Given the description of an element on the screen output the (x, y) to click on. 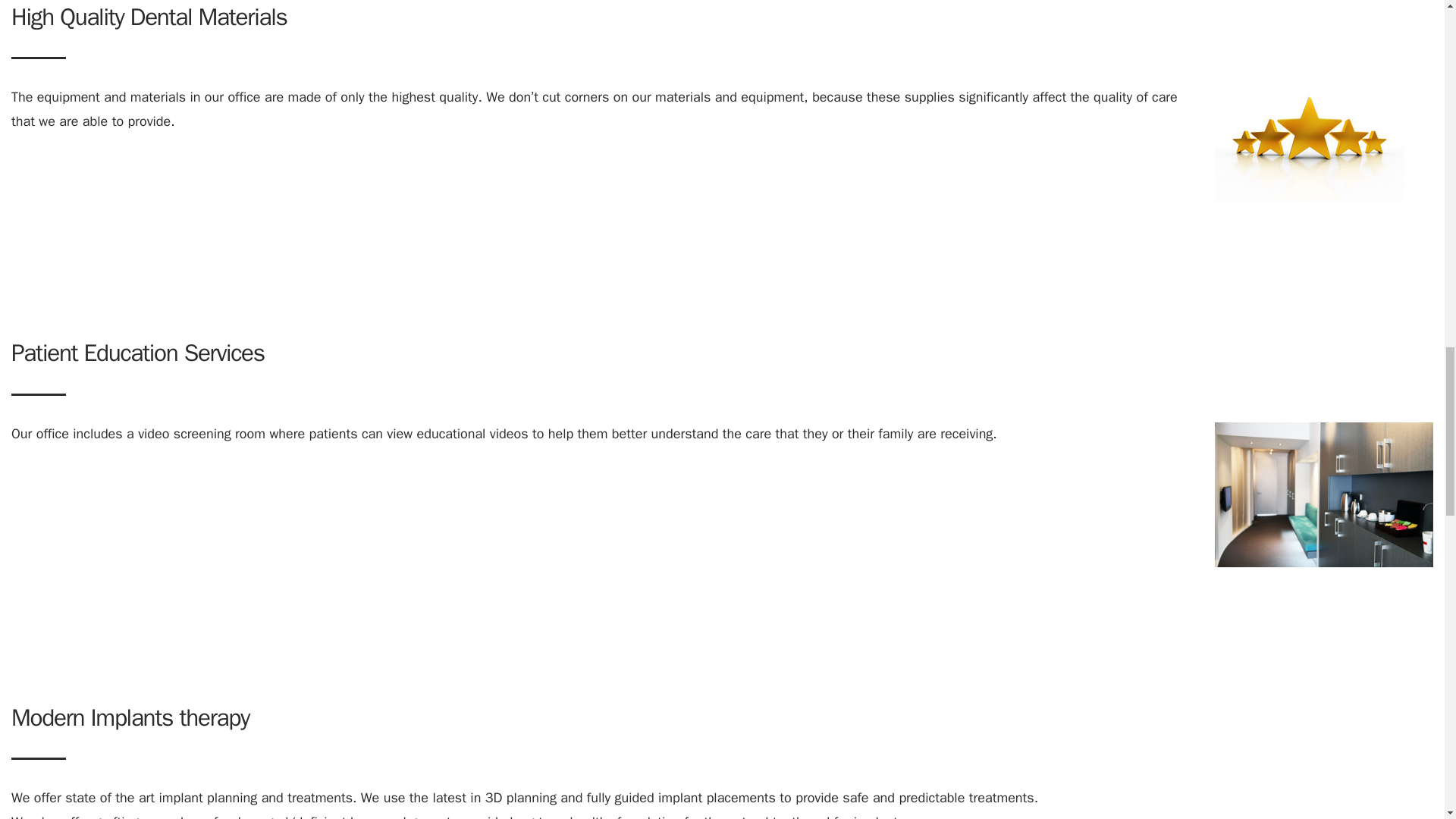
High quality dental products (1309, 143)
Video screening room (1323, 494)
